Given the description of an element on the screen output the (x, y) to click on. 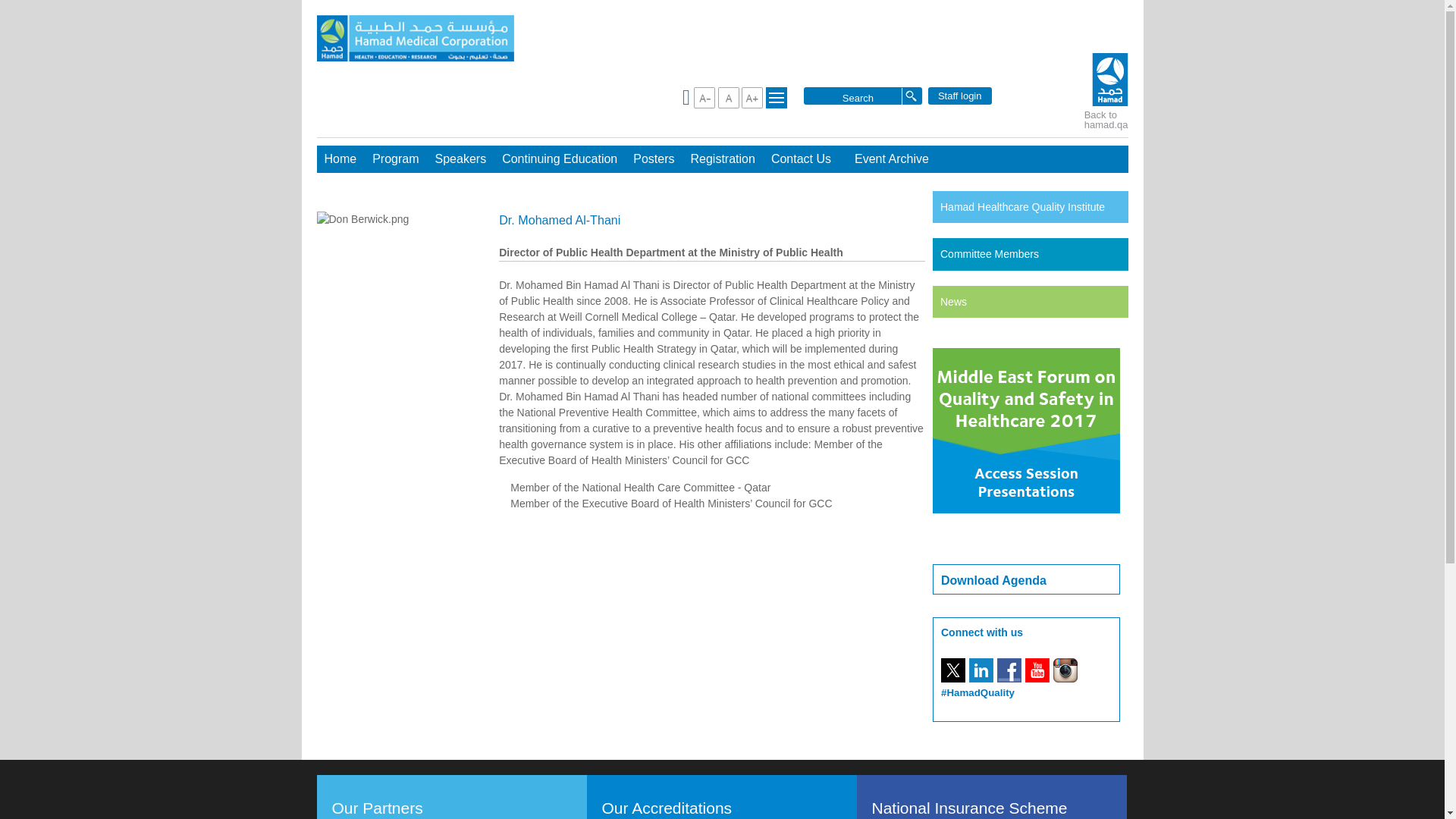
Instagram (1064, 670)
Committee Members (989, 254)
Continuing Education (559, 158)
National Insurance Scheme (967, 807)
Hamad Healthcare Quality Institute (1022, 206)
facebook (1009, 670)
twitter (952, 670)
Our Partners (383, 807)
Font resize (728, 97)
Download Agenda (993, 580)
Font resize (751, 97)
Posters (653, 158)
Event Archive (891, 159)
Staff login (959, 95)
Change contrast (776, 97)
